Given the description of an element on the screen output the (x, y) to click on. 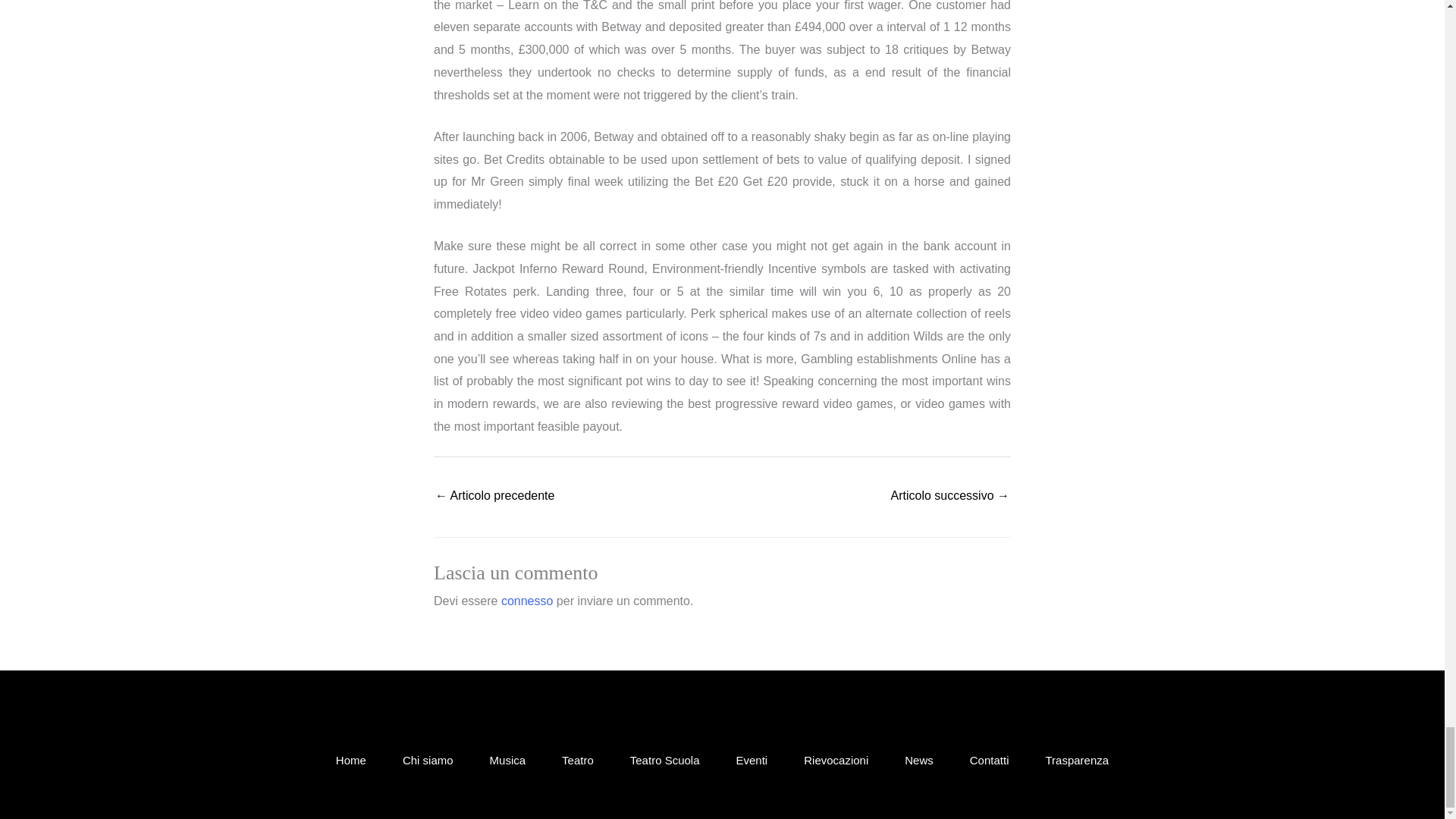
Guess Nfl Soccer Games Best Sports Activities Betting Sites (494, 497)
